Given the description of an element on the screen output the (x, y) to click on. 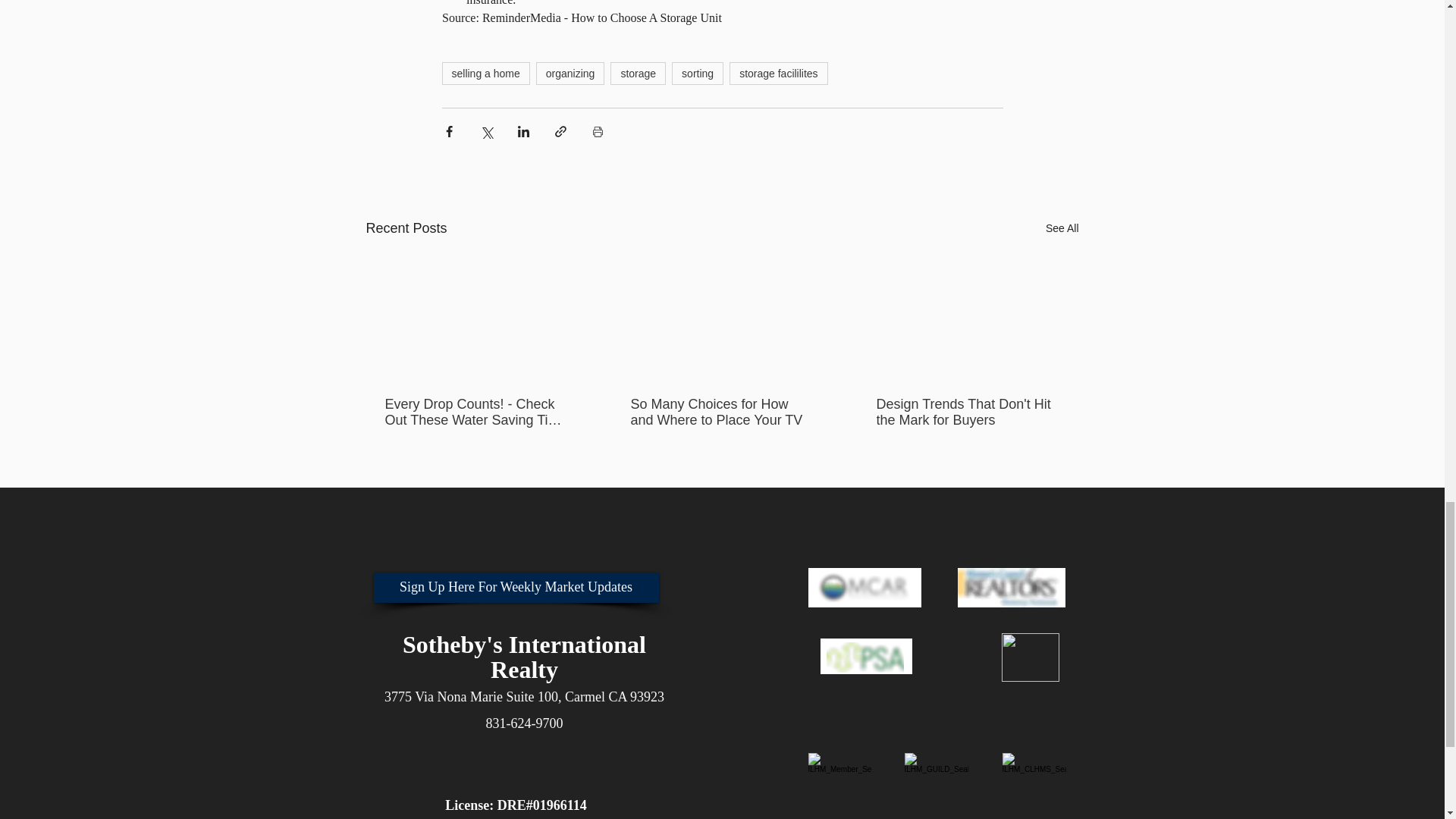
organizing (570, 73)
storage facililites (778, 73)
sorting (697, 73)
selling a home (485, 73)
storage (637, 73)
Design Trends That Don't Hit the Mark for Buyers (967, 412)
See All (1061, 228)
So Many Choices for How and Where to Place Your TV (721, 412)
Sign Up Here For Weekly Market Updates (515, 587)
